Given the description of an element on the screen output the (x, y) to click on. 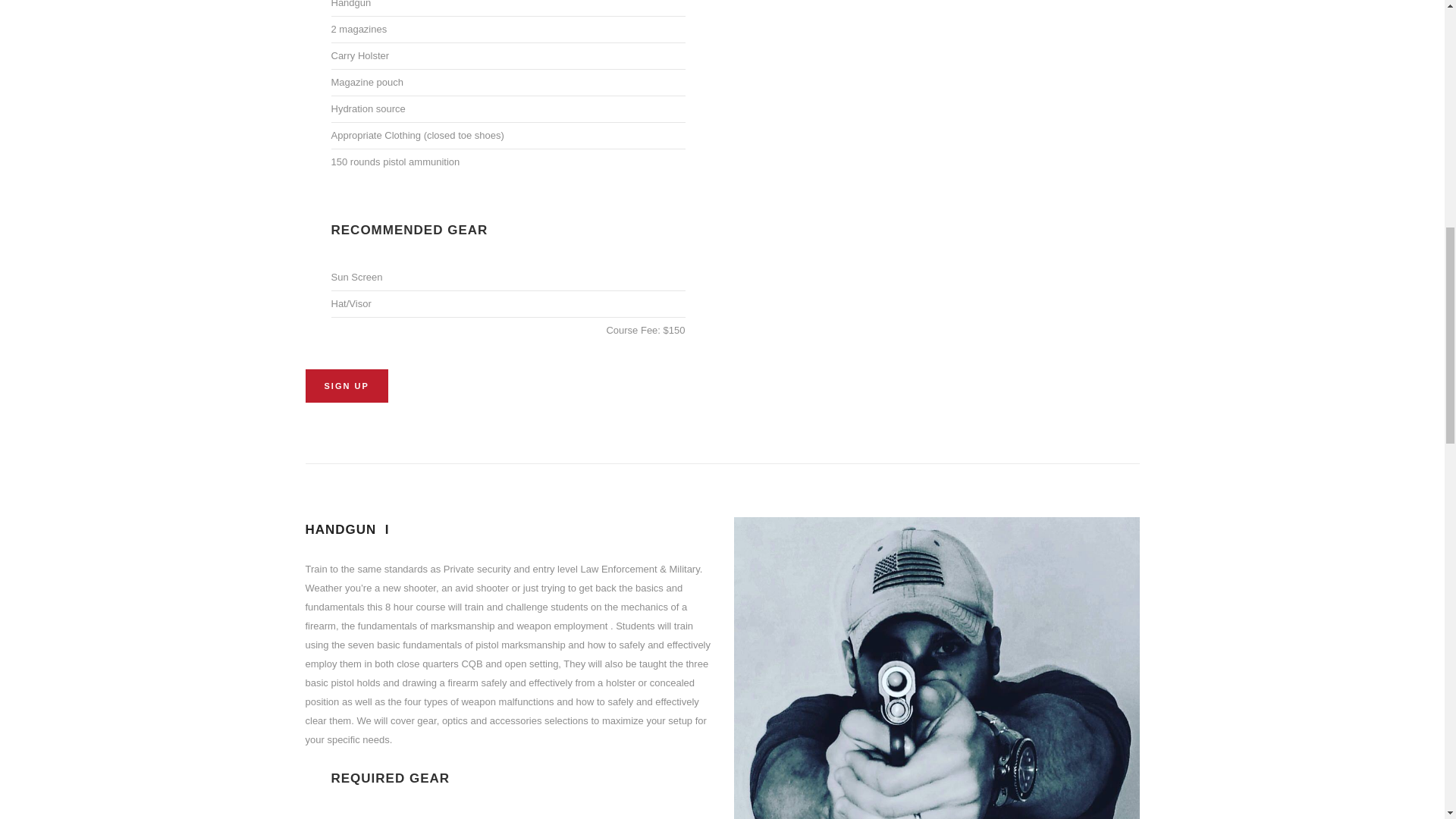
SIGN UP (345, 385)
